Given the description of an element on the screen output the (x, y) to click on. 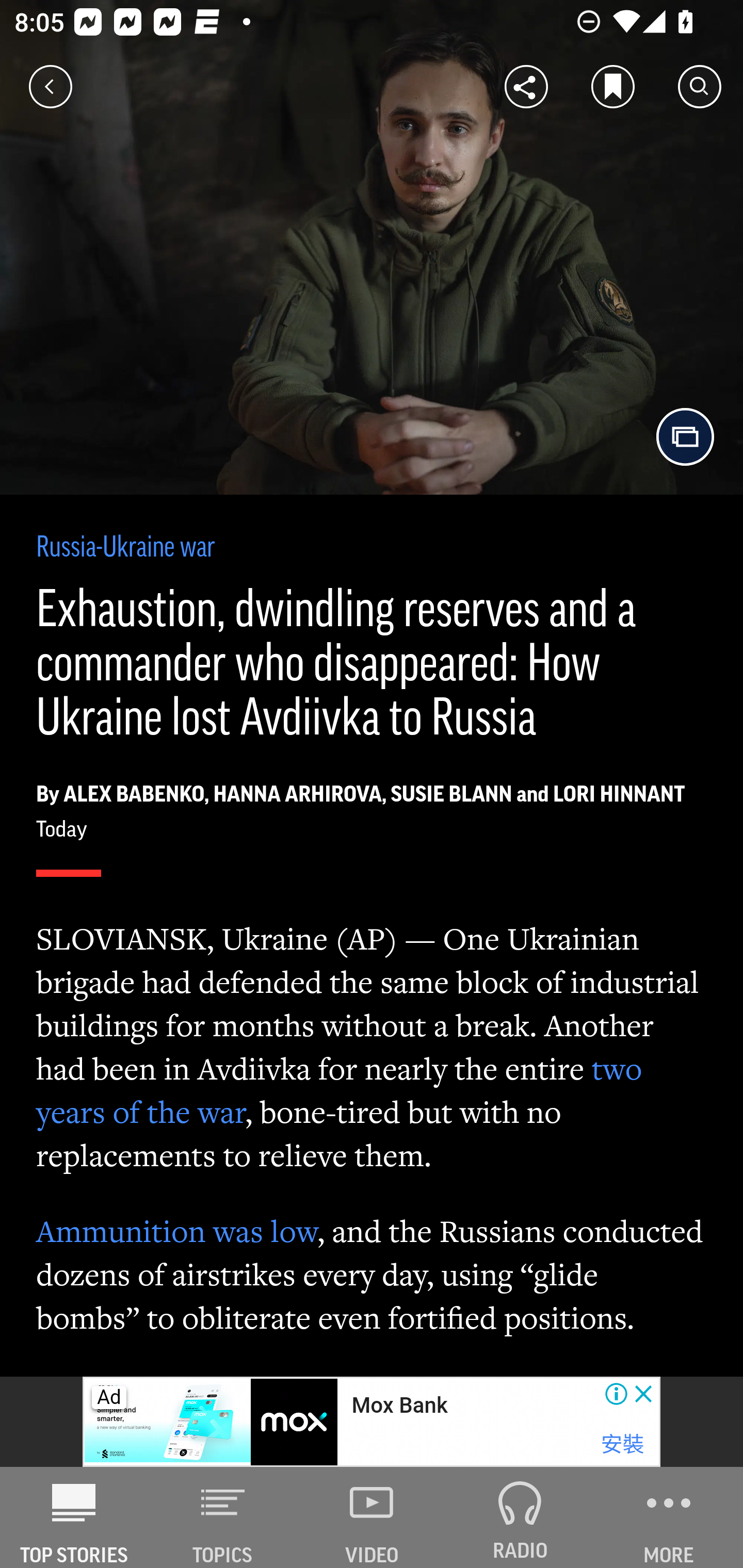
Russia-Ukraine war (126, 548)
two years of the war (339, 1090)
Ammunition was low (177, 1230)
Mox Bank (398, 1405)
安裝 (621, 1444)
AP News TOP STORIES (74, 1517)
TOPICS (222, 1517)
VIDEO (371, 1517)
RADIO (519, 1517)
MORE (668, 1517)
